Given the description of an element on the screen output the (x, y) to click on. 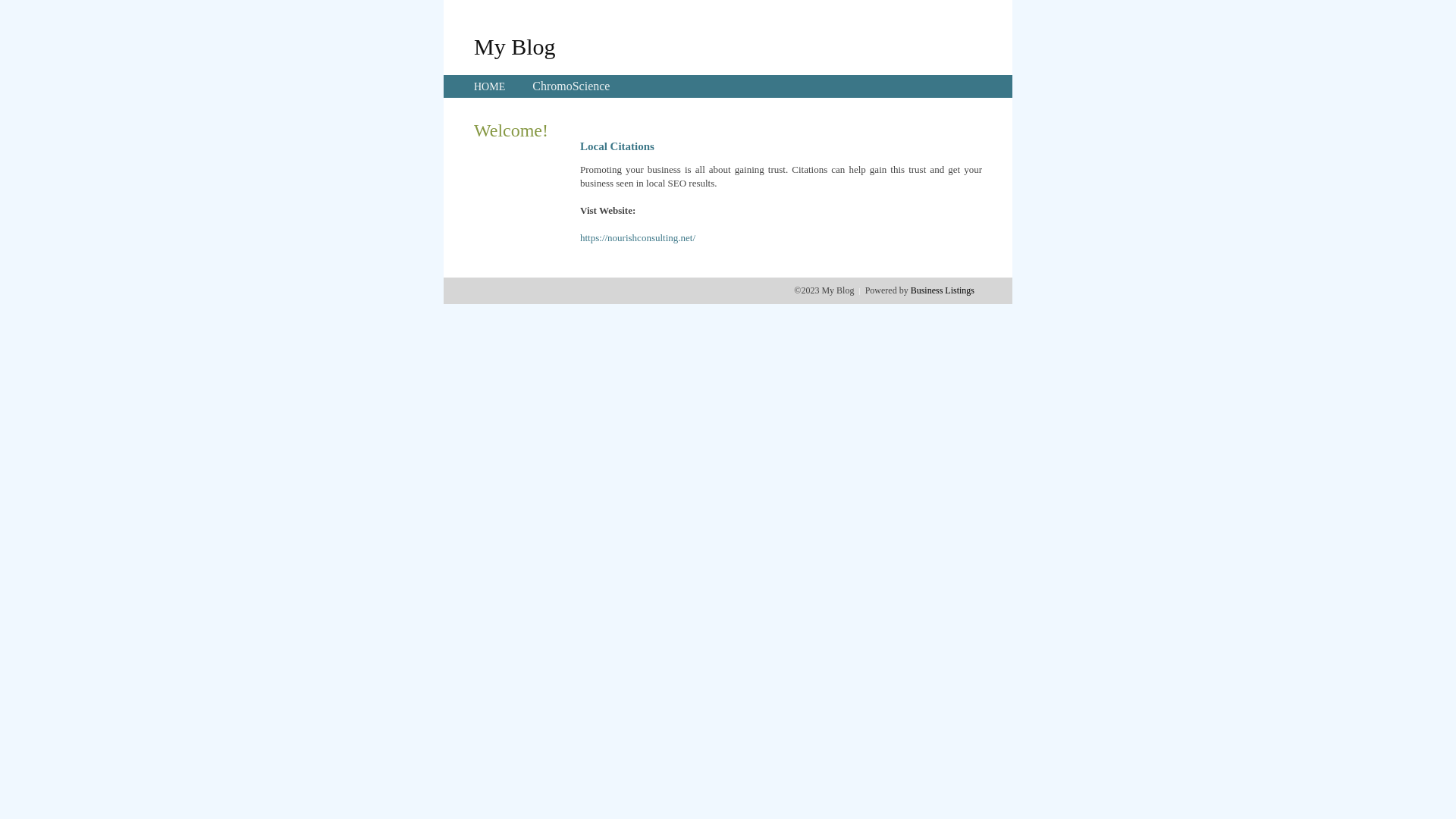
HOME Element type: text (489, 86)
ChromoScience Element type: text (570, 85)
Business Listings Element type: text (942, 290)
My Blog Element type: text (514, 46)
https://nourishconsulting.net/ Element type: text (637, 237)
